Given the description of an element on the screen output the (x, y) to click on. 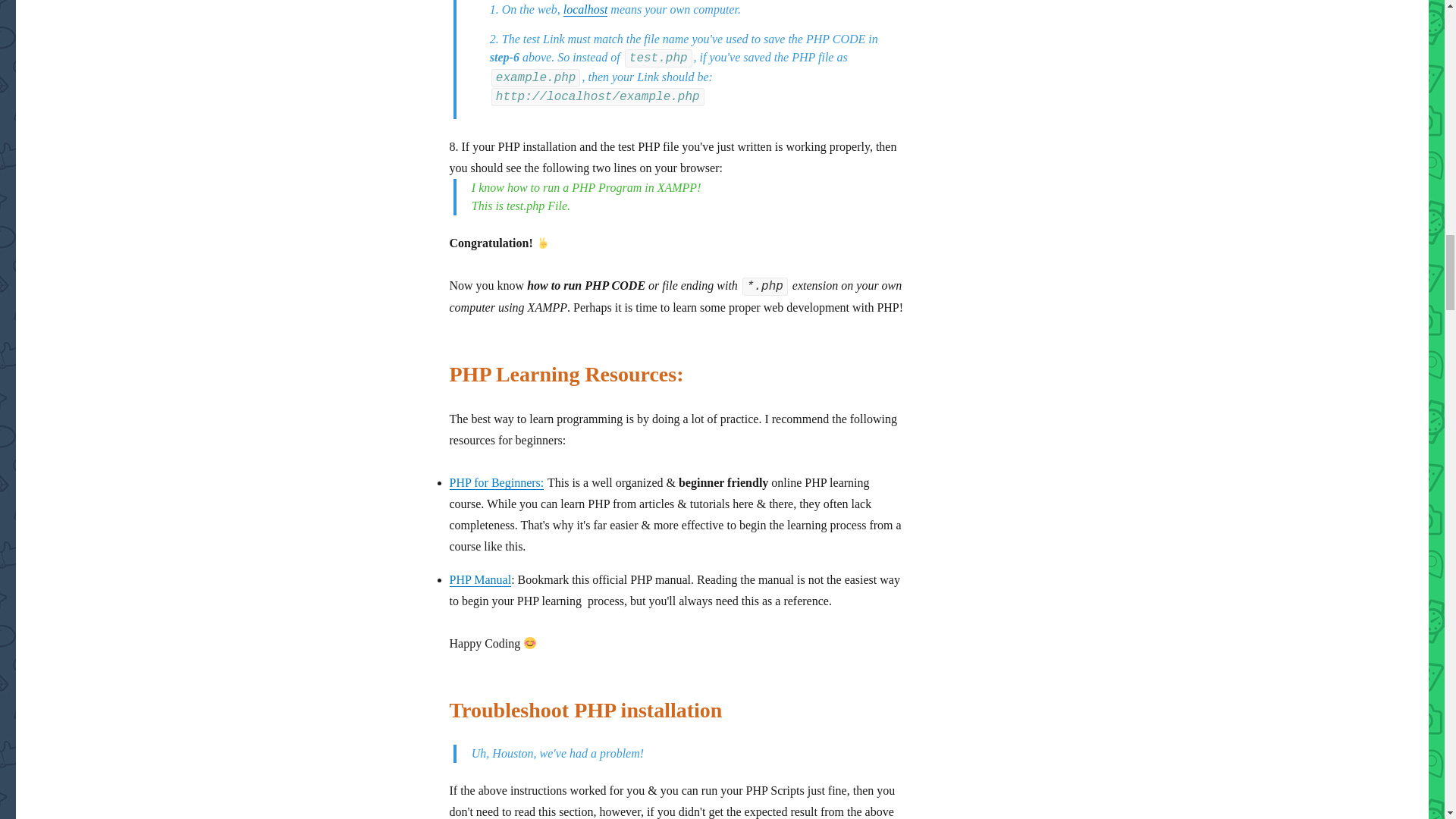
PHP Manual (479, 579)
PHP for Beginners: (495, 481)
PHP Manual (479, 579)
localhost (585, 9)
